Given the description of an element on the screen output the (x, y) to click on. 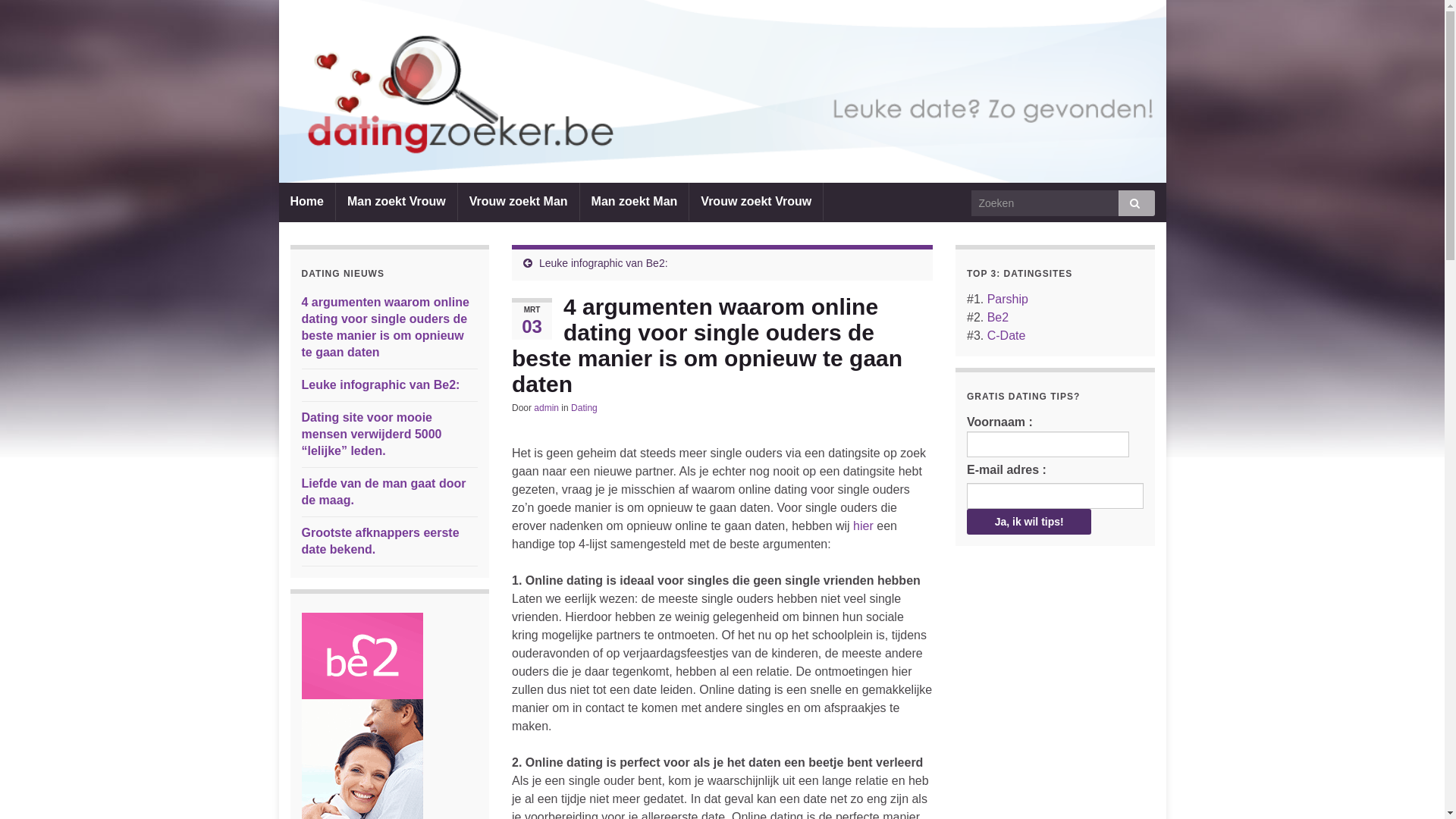
Vrouw zoekt Man Element type: text (518, 201)
Leuke infographic van Be2: Element type: text (380, 384)
Be2 Element type: text (997, 316)
Man zoekt Vrouw Element type: text (396, 201)
  Element type: text (722, 91)
Leuke infographic van Be2: Element type: text (603, 263)
Liefde van de man gaat door de maag. Element type: text (383, 491)
Home Element type: text (307, 201)
Vrouw zoekt Vrouw Element type: text (755, 201)
Parship Element type: text (1007, 298)
Dating zoeker Element type: hover (722, 91)
C-Date Element type: text (1006, 335)
hier Element type: text (863, 525)
Dating Element type: text (584, 407)
   Ja, ik wil tips!    Element type: text (1028, 521)
admin Element type: text (545, 407)
Grootste afknappers eerste date bekend. Element type: text (380, 540)
Man zoekt Man Element type: text (634, 201)
